Given the description of an element on the screen output the (x, y) to click on. 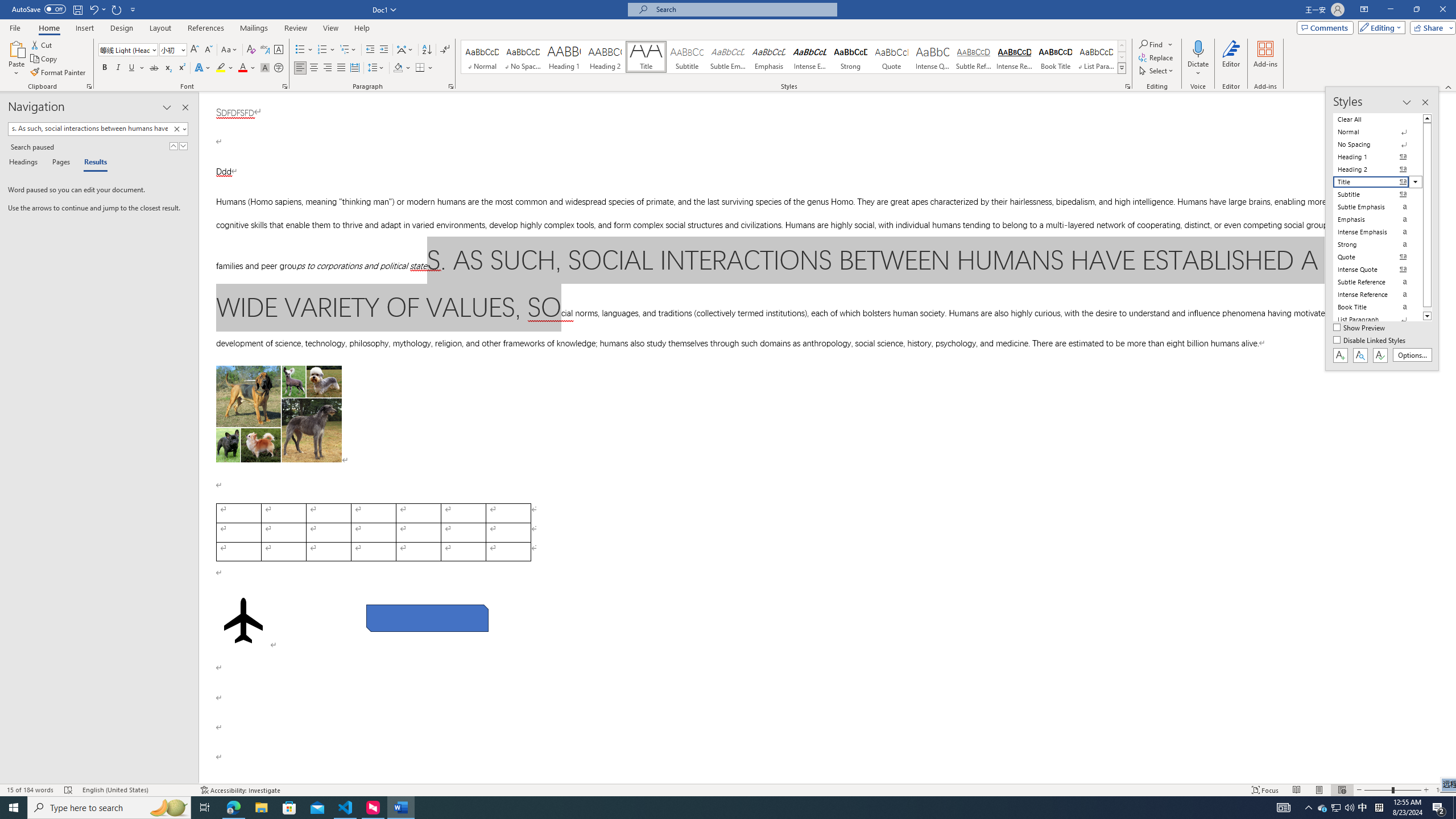
Morphological variation in six dogs (278, 414)
Intense Emphasis (809, 56)
